Given the description of an element on the screen output the (x, y) to click on. 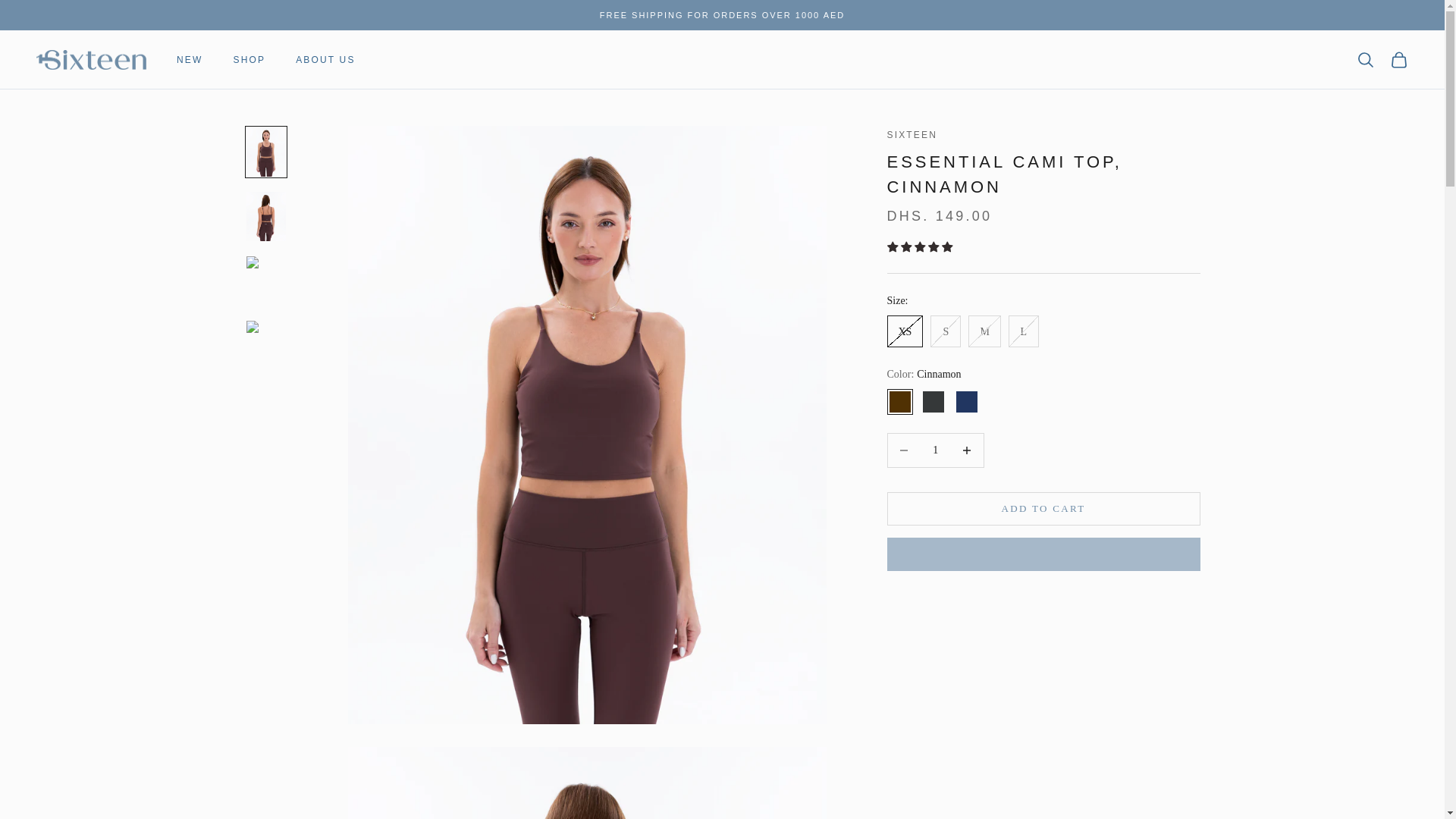
SIXTEEN (91, 59)
Royal Blue (966, 401)
SIXTEEN (911, 134)
Cinnamon (899, 401)
ABOUT US (325, 59)
1 (935, 450)
Open search (1365, 59)
Black (933, 401)
Decrease quantity (903, 450)
Open cart (1398, 59)
NEW (189, 59)
